Given the description of an element on the screen output the (x, y) to click on. 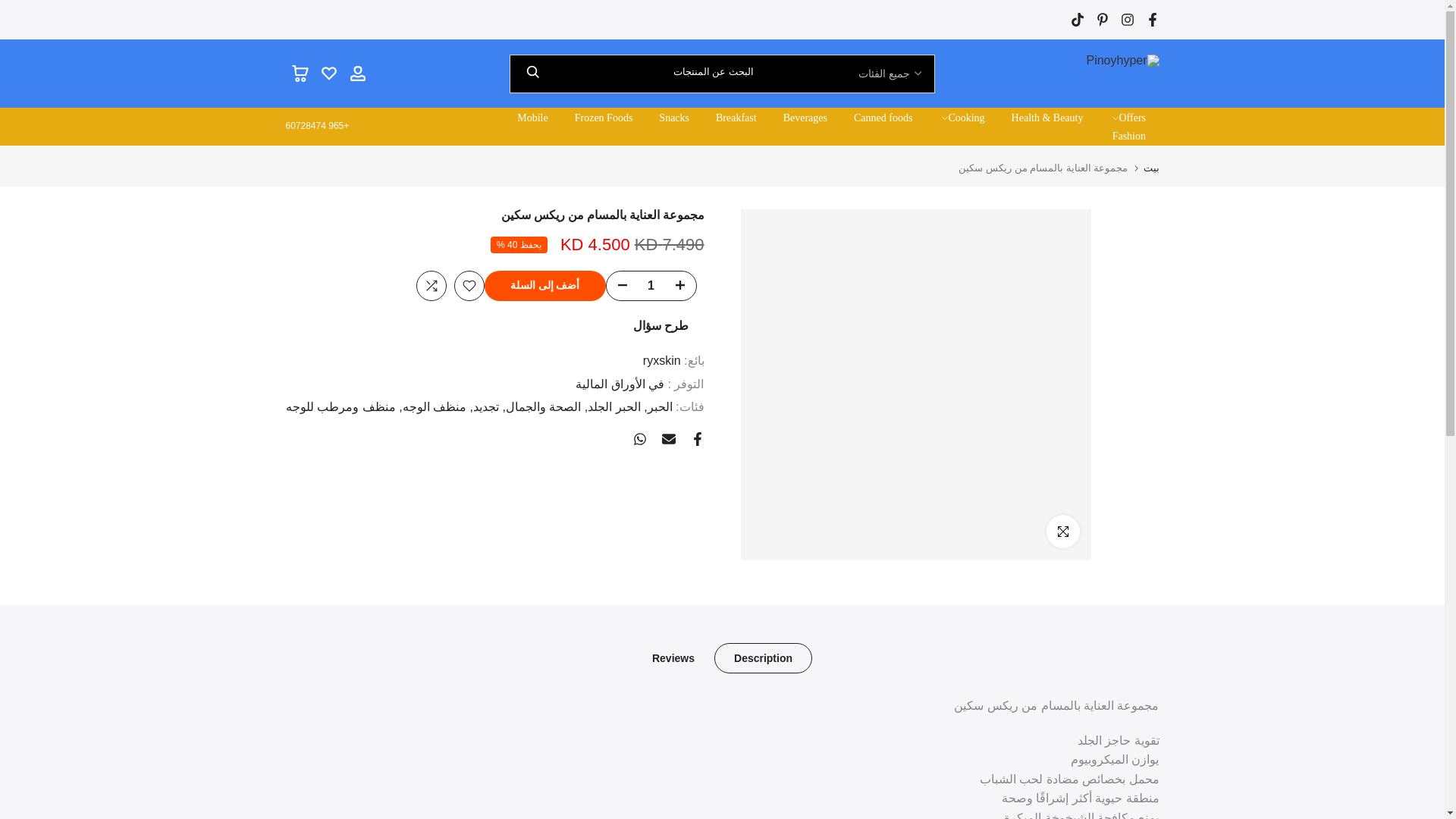
Fashion (1128, 136)
ryxskin (662, 359)
Cooking (961, 117)
Canned foods (882, 117)
1 (650, 285)
Mobile (531, 117)
Share on Facebook (696, 438)
Share on WhatsApp (638, 438)
Frozen Foods (603, 117)
Offers (1127, 117)
Snacks (674, 117)
Share on Email (668, 438)
Breakfast (736, 117)
Beverages (805, 117)
